Given the description of an element on the screen output the (x, y) to click on. 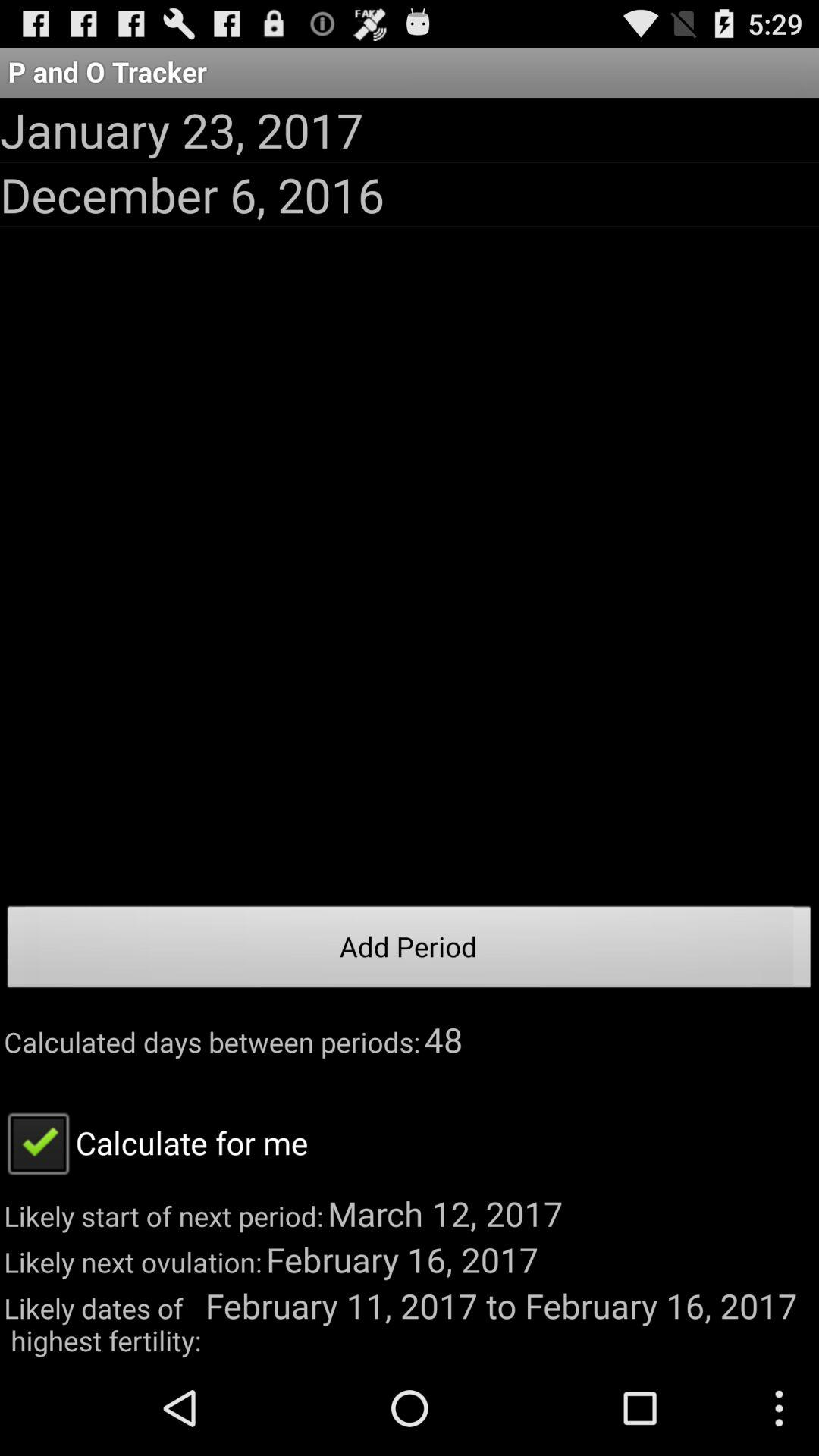
tap the calculate for me icon (154, 1142)
